Given the description of an element on the screen output the (x, y) to click on. 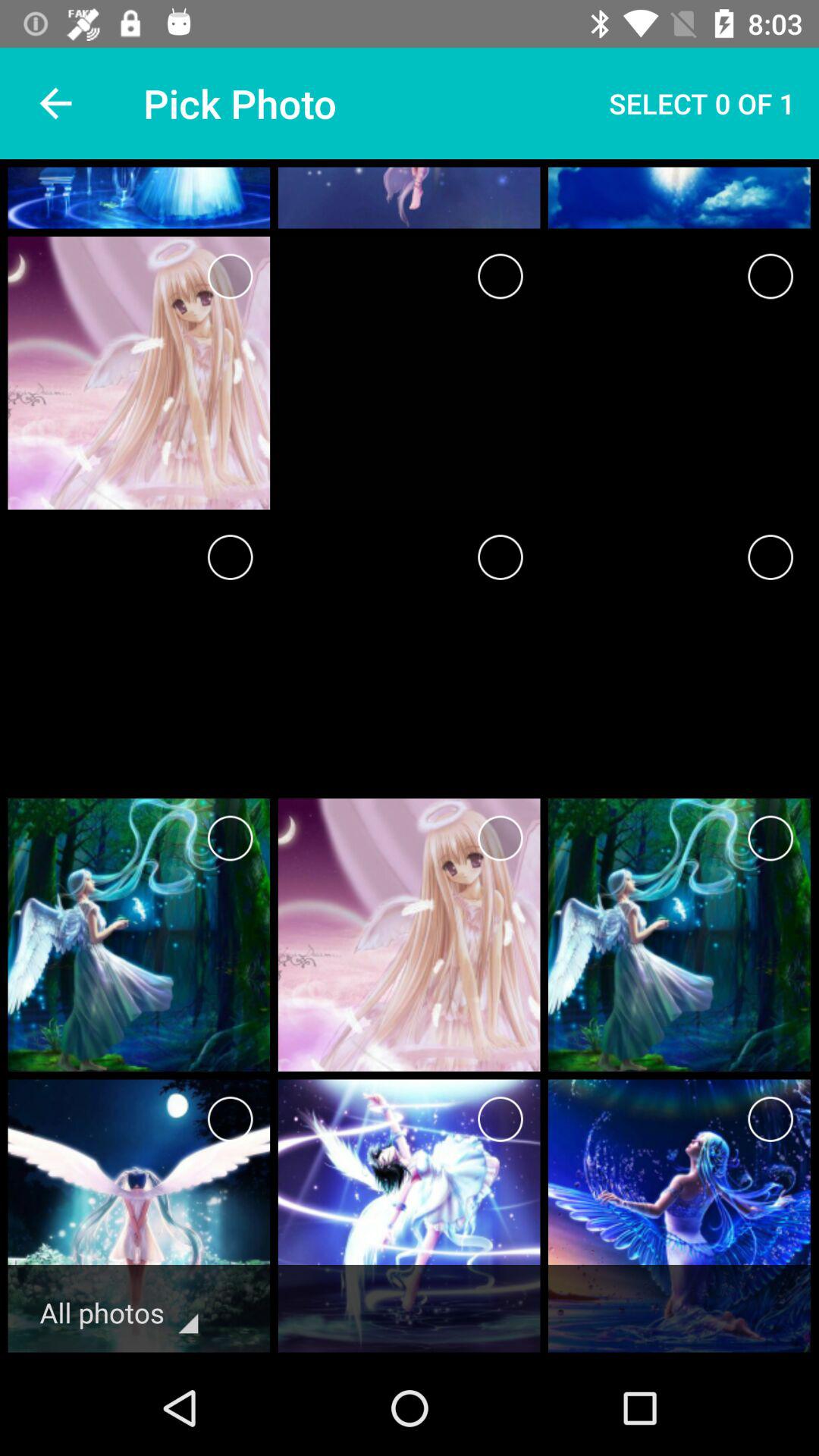
select photo (770, 557)
